Given the description of an element on the screen output the (x, y) to click on. 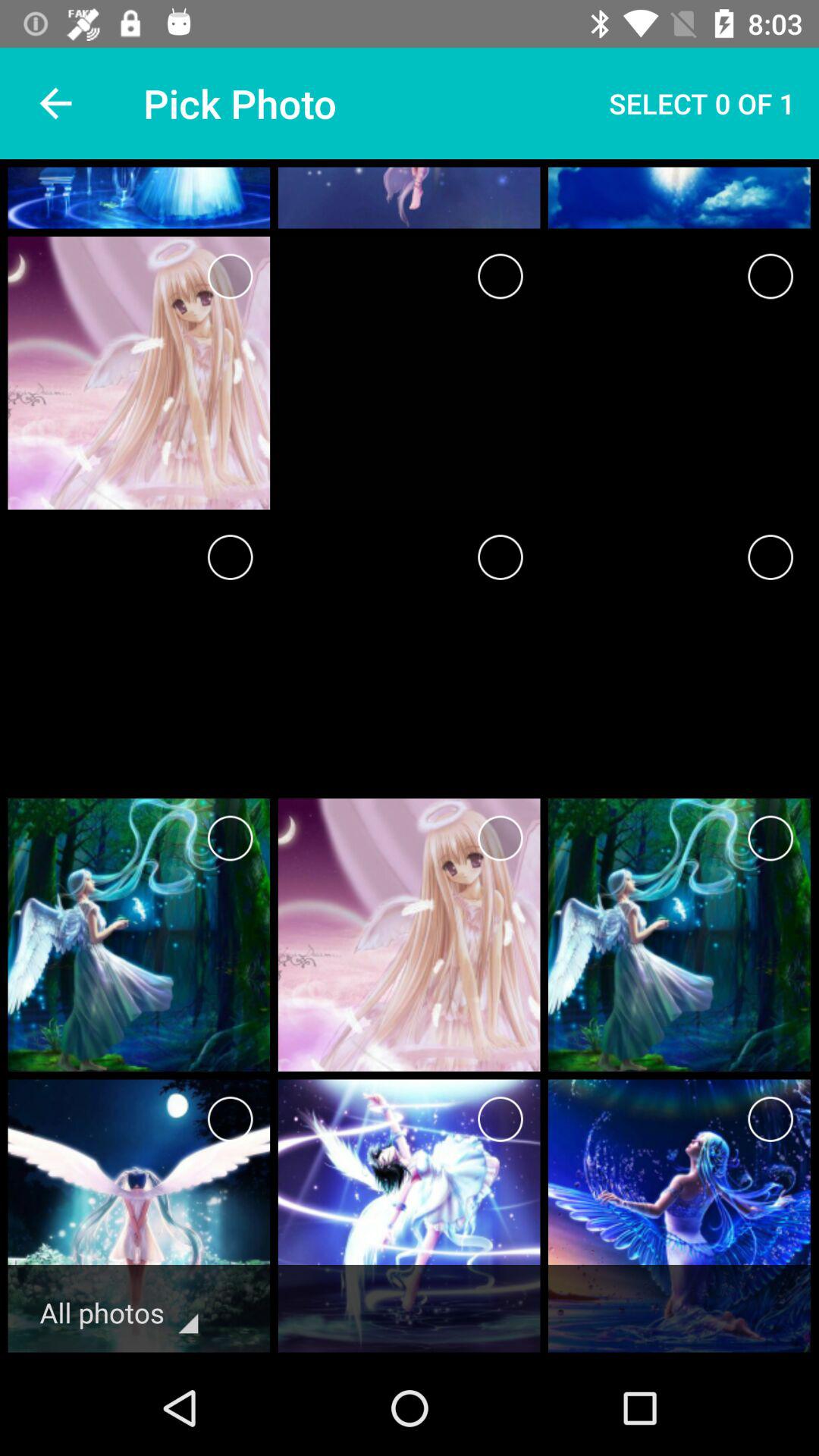
select photo (770, 557)
